Given the description of an element on the screen output the (x, y) to click on. 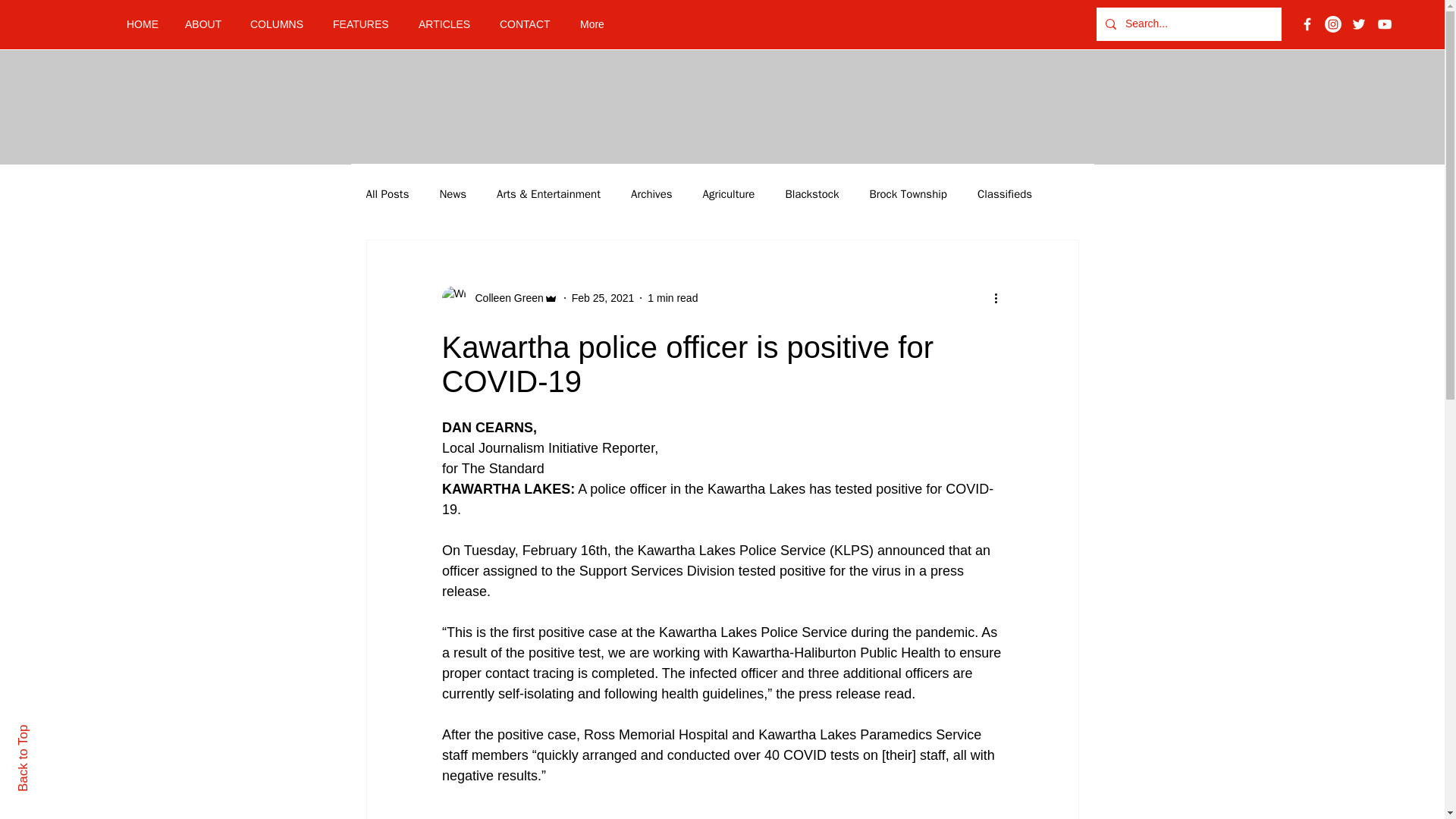
Blackstock (811, 193)
Agriculture (729, 193)
Brock Township (907, 193)
Colleen Green (504, 297)
Feb 25, 2021 (603, 297)
Archives (651, 193)
Classifieds (1004, 193)
1 min read (672, 297)
HOME (144, 24)
All Posts (387, 193)
